Given the description of an element on the screen output the (x, y) to click on. 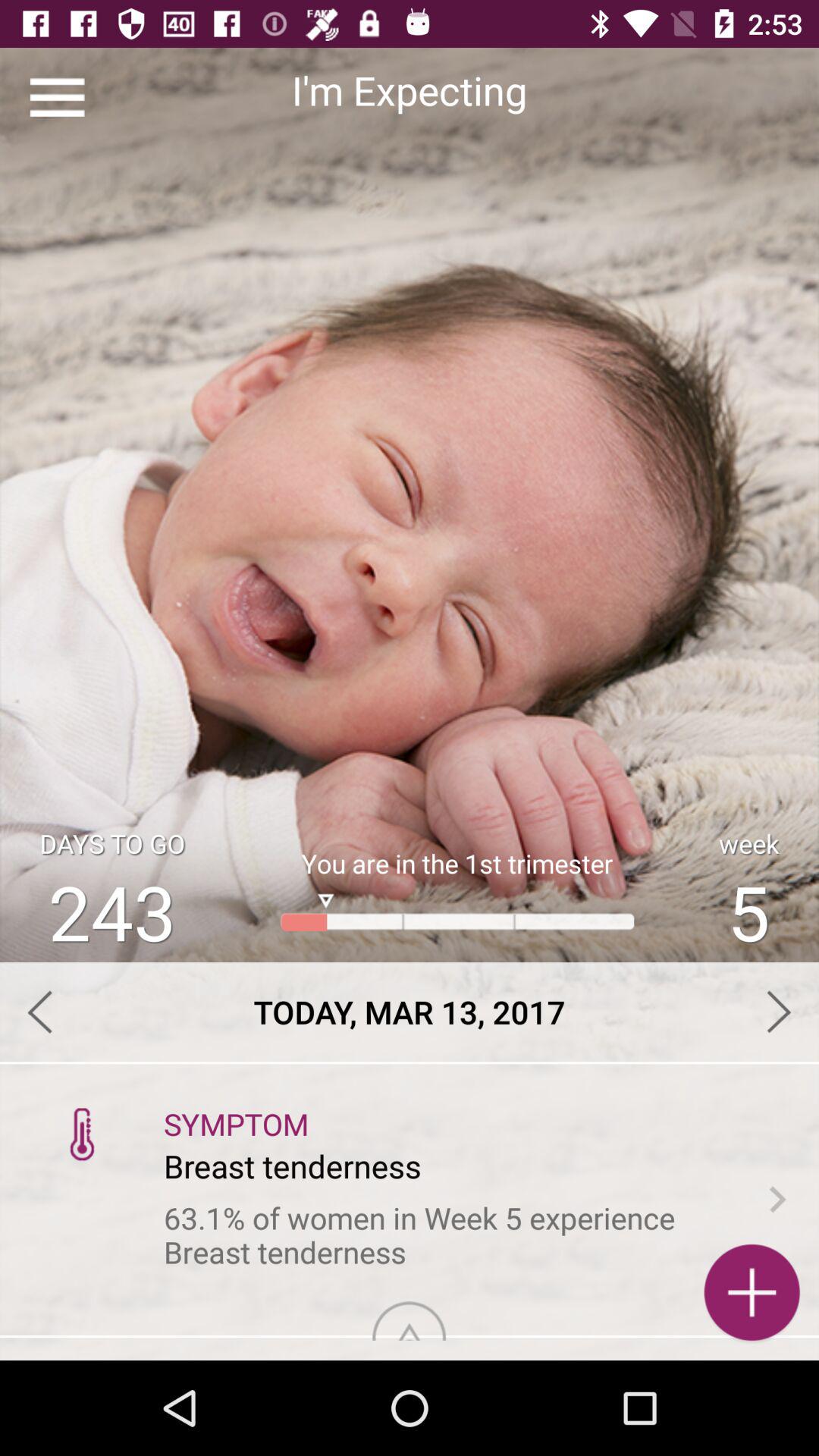
scroll to the today mar 13 button (409, 1011)
